Given the description of an element on the screen output the (x, y) to click on. 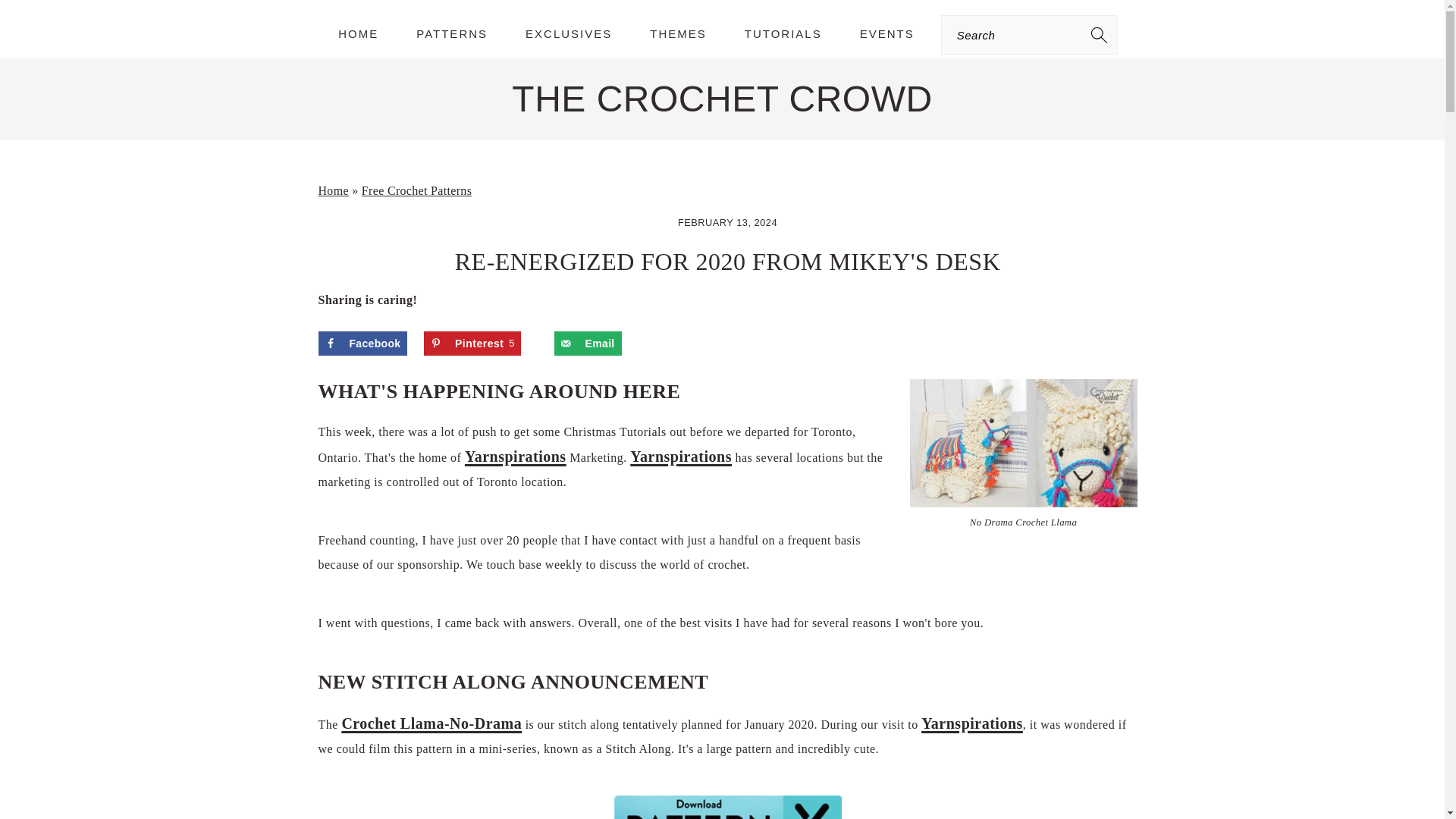
Yarnspirations (515, 456)
Free Crochet Patterns (416, 190)
Skip to primary navigation (472, 343)
Home (362, 343)
Email (333, 190)
PATTERNS (587, 343)
Yarnspirations (451, 33)
Crochet Llama-No-Drama (972, 723)
EXCLUSIVES (430, 723)
HOME (568, 33)
THE CROCHET CROWD (357, 33)
Search (721, 98)
Save to Pinterest (275, 19)
